Given the description of an element on the screen output the (x, y) to click on. 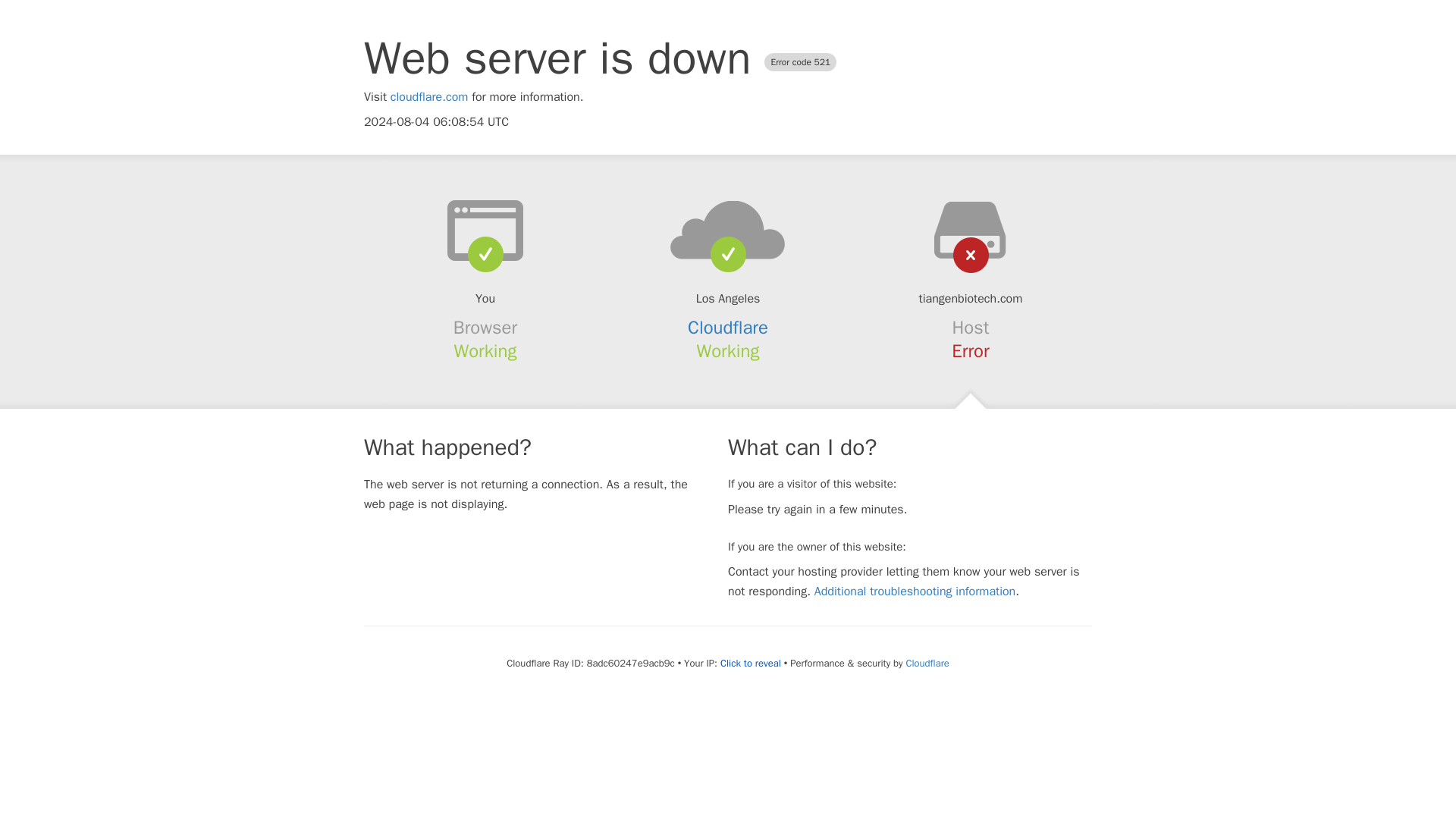
Cloudflare (727, 327)
Cloudflare (927, 662)
Click to reveal (750, 663)
Additional troubleshooting information (913, 590)
cloudflare.com (429, 96)
